Given the description of an element on the screen output the (x, y) to click on. 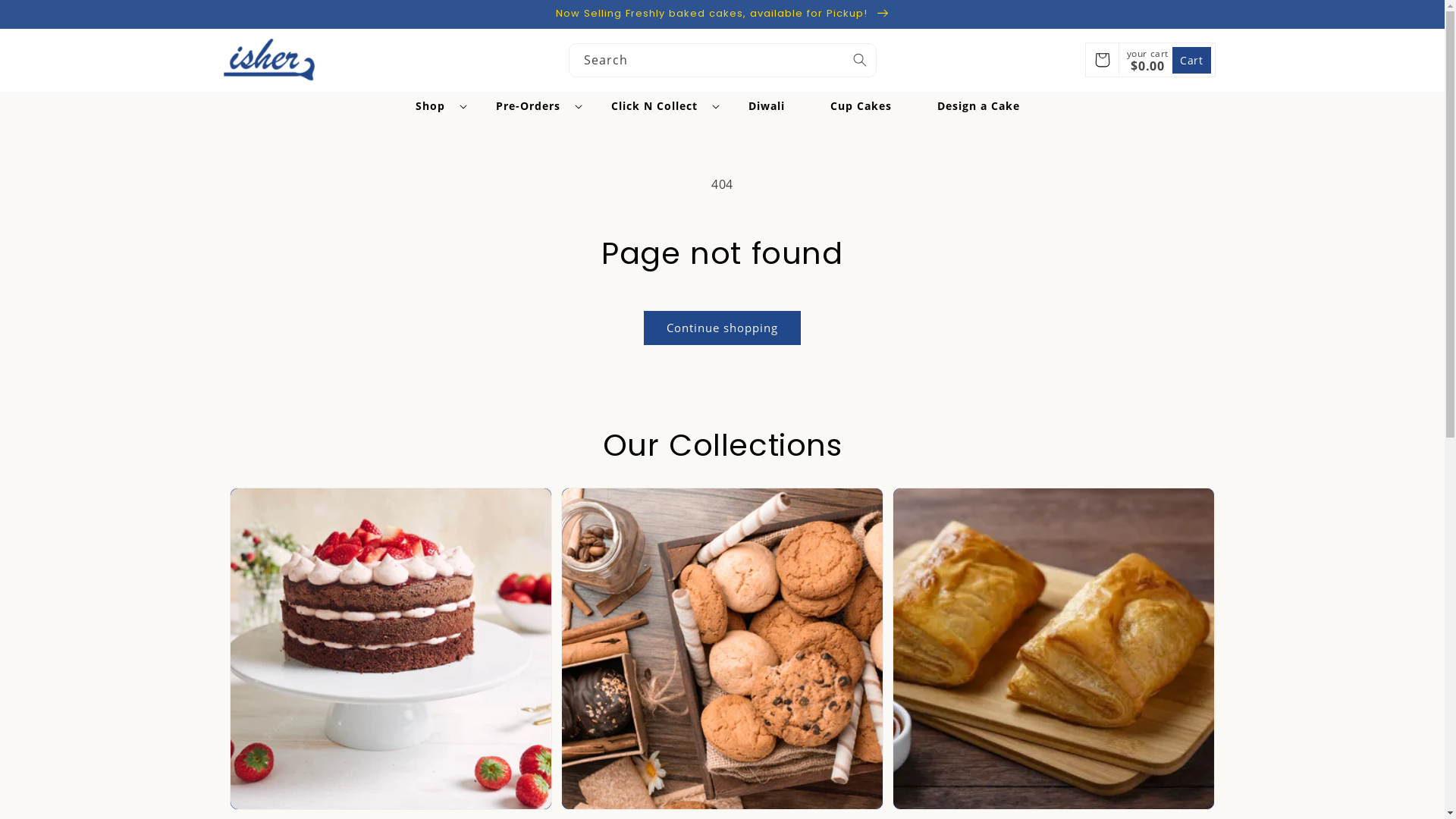
Diwali Element type: text (766, 105)
Continue shopping Element type: text (721, 327)
Cart Element type: text (1102, 59)
Cup Cakes Element type: text (860, 105)
Cart Element type: text (1191, 60)
Now Selling Freshly baked cakes, available for Pickup! Element type: text (722, 14)
Design a Cake Element type: text (978, 105)
